Given the description of an element on the screen output the (x, y) to click on. 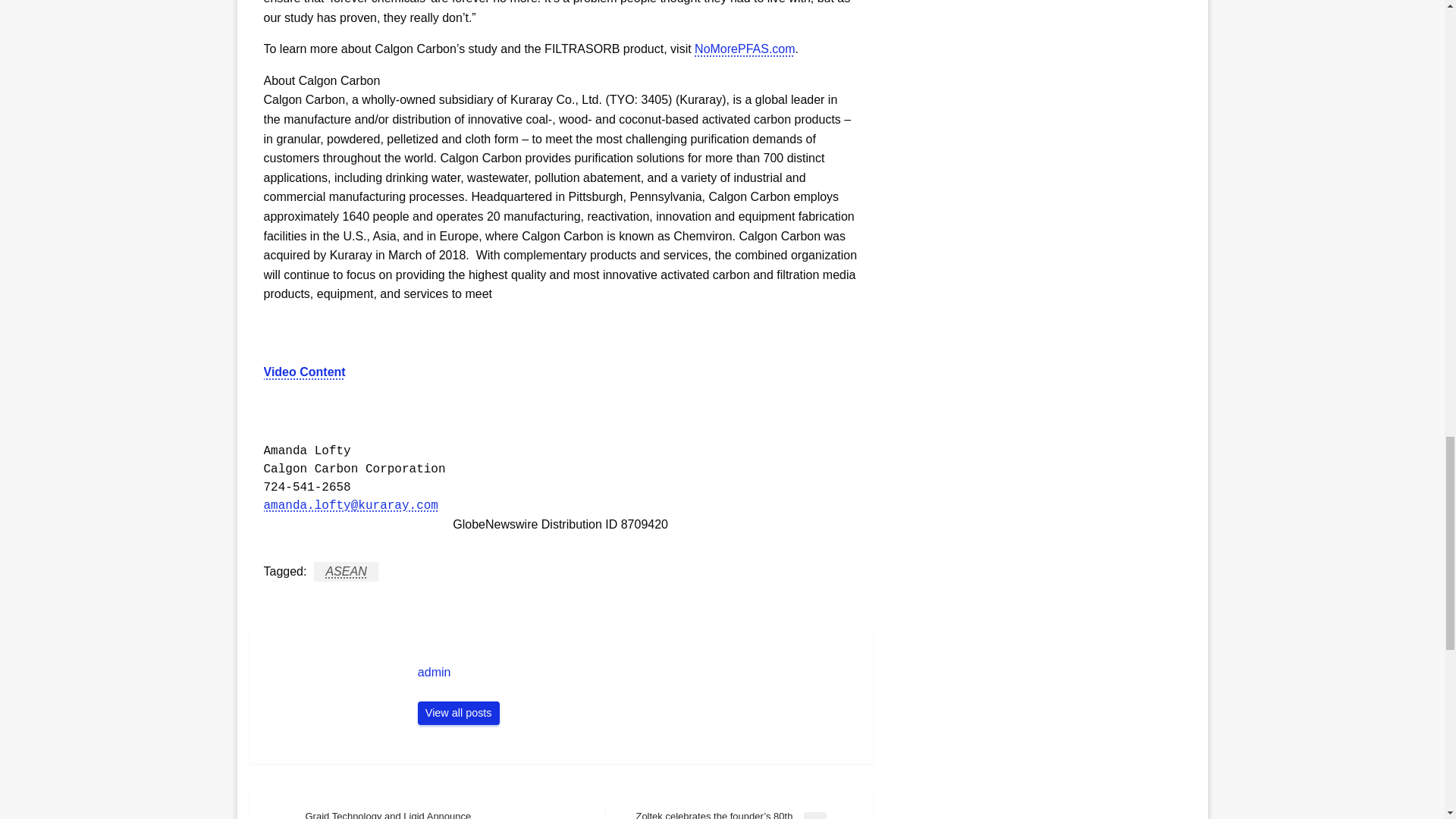
View all posts (458, 713)
admin (637, 672)
admin (458, 713)
admin (637, 672)
ASEAN (345, 571)
NoMorePFAS.com (744, 48)
Video Content (304, 371)
